Given the description of an element on the screen output the (x, y) to click on. 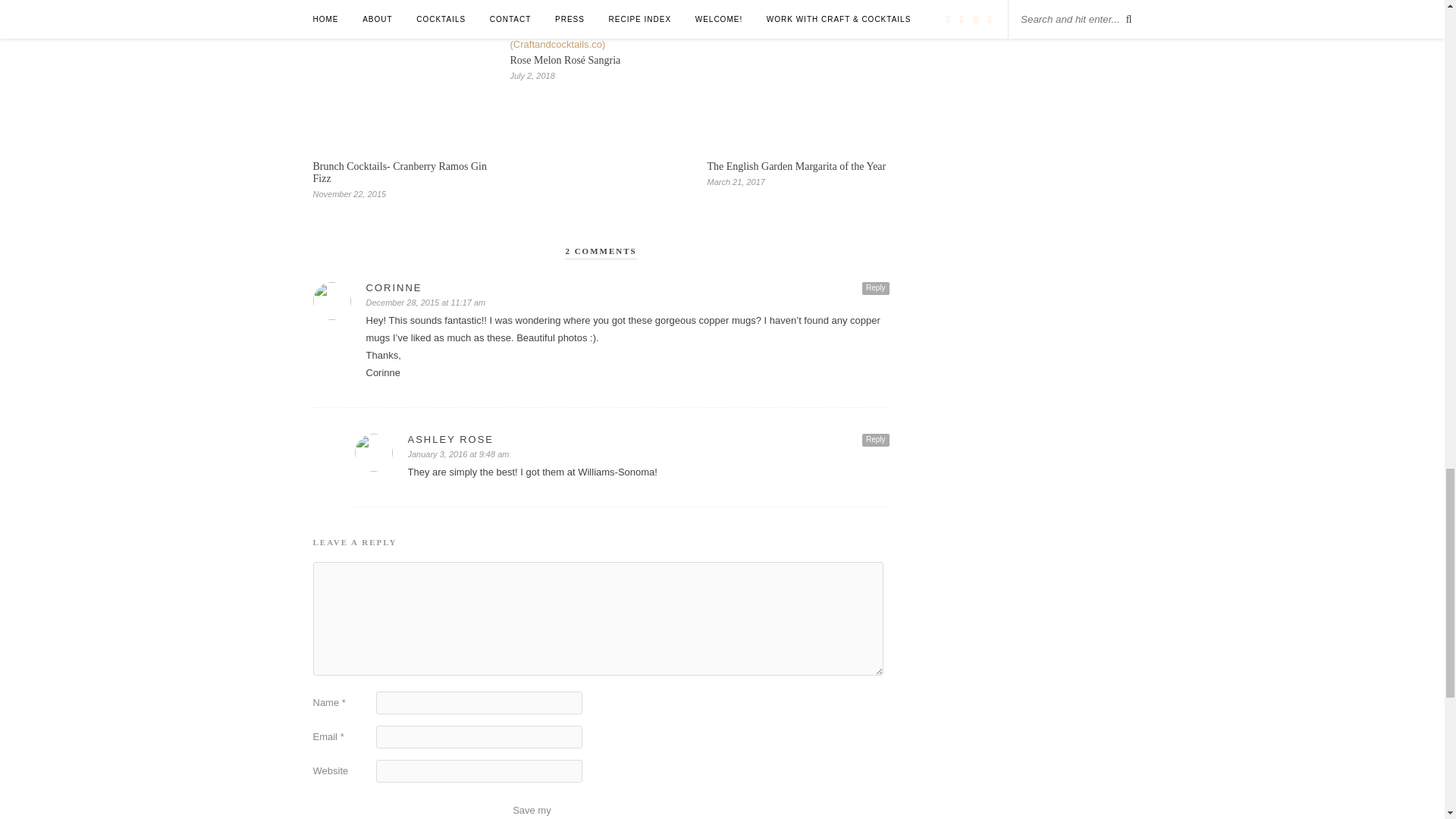
The English Garden Margarita of the Year (795, 165)
Brunch Cocktails- Cranberry Ramos Gin Fizz (399, 172)
Reply (875, 287)
Reply (875, 440)
